Given the description of an element on the screen output the (x, y) to click on. 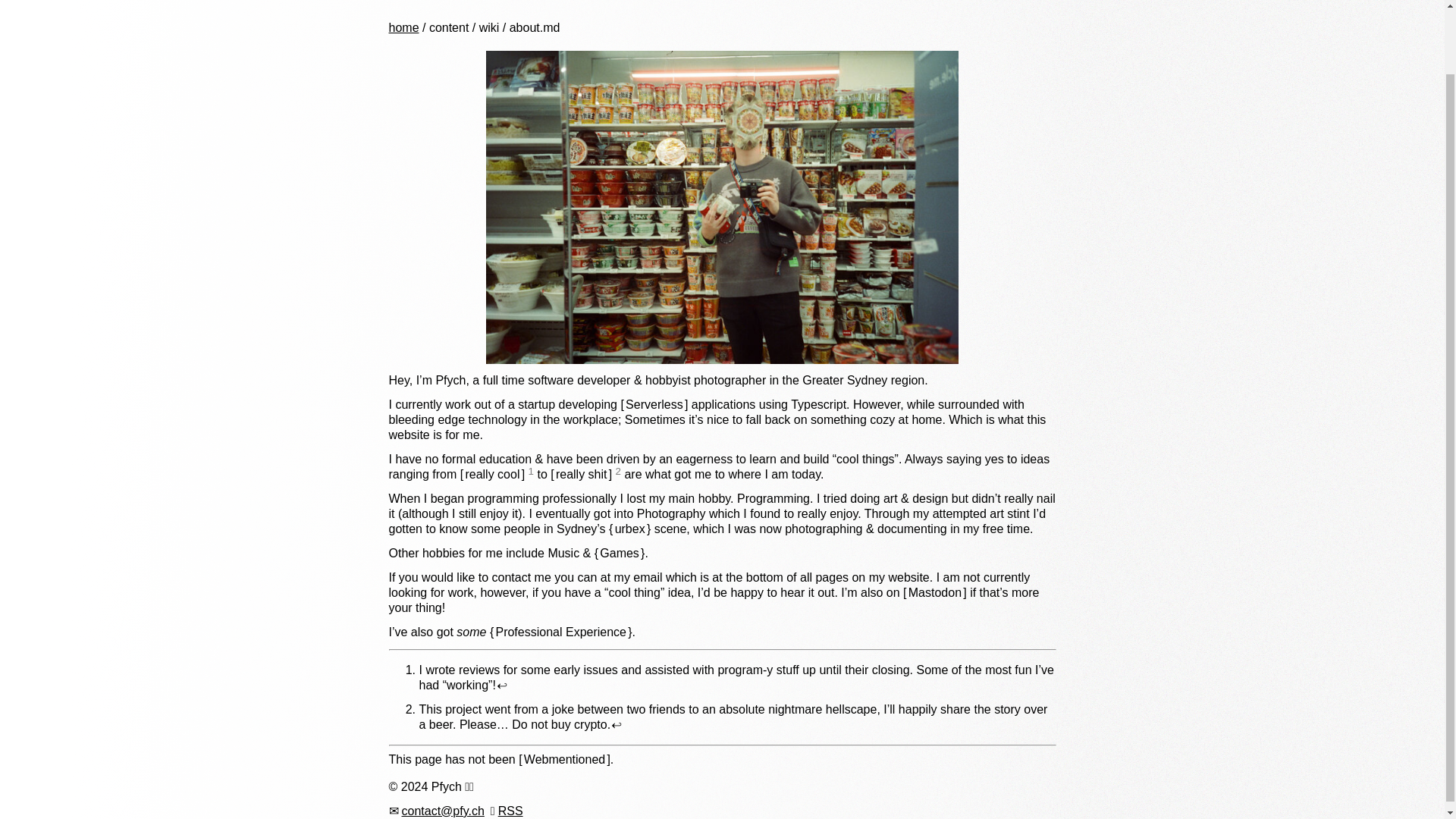
Webmentioned (563, 758)
Serverless (653, 404)
really cool (492, 473)
Professional Experience (560, 631)
home (403, 27)
Mastodon (934, 592)
really shit (580, 473)
RSS (509, 810)
Games (619, 553)
urbex (629, 528)
